Given the description of an element on the screen output the (x, y) to click on. 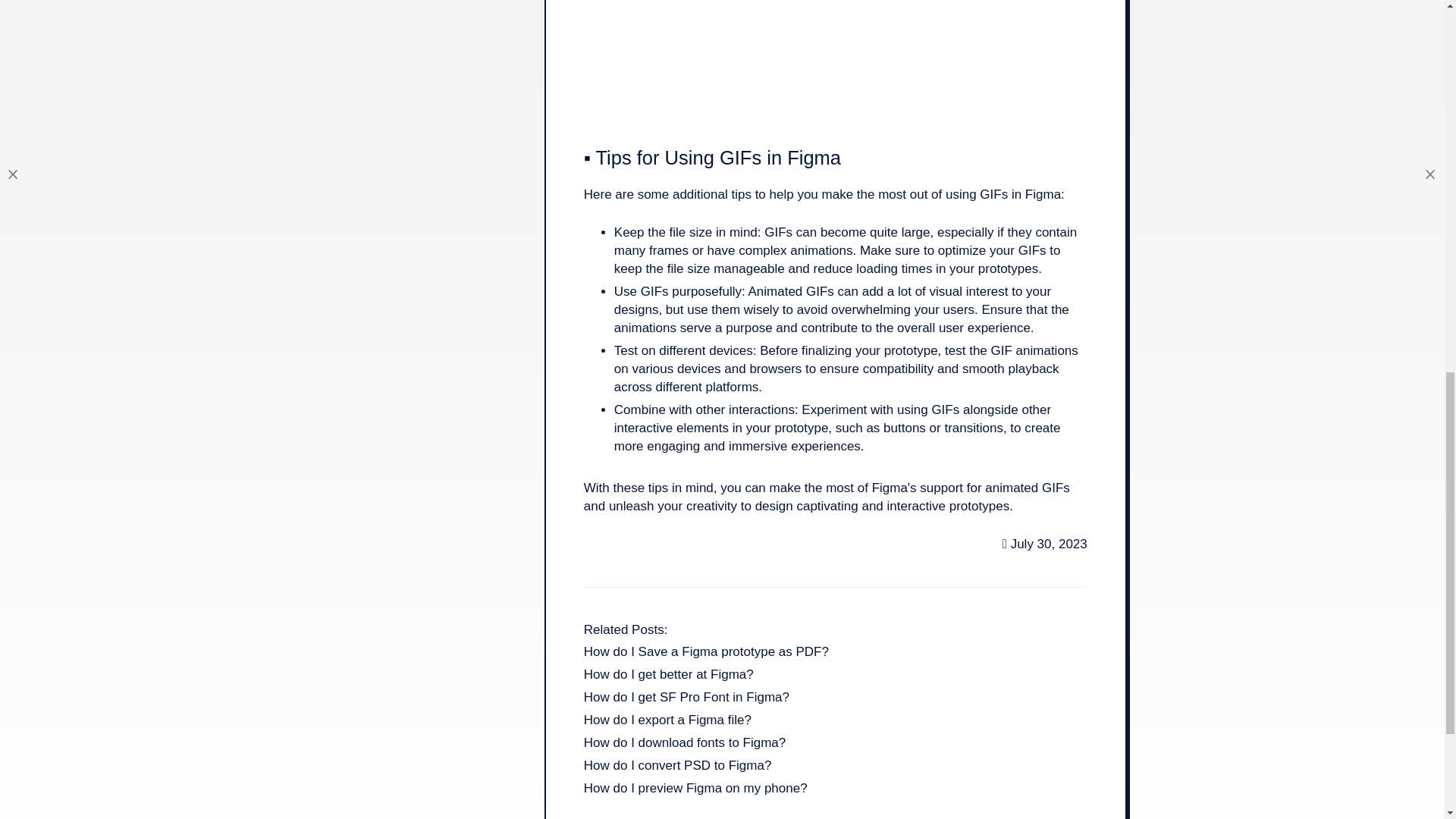
How do I get SF Pro Font in Figma? (686, 699)
How do I convert PSD to Figma? (677, 767)
How do I download fonts to Figma? (684, 744)
How do I get better at Figma? (668, 676)
How do I export a Figma file? (667, 722)
How do I preview Figma on my phone? (695, 790)
How do I Save a Figma prototype as PDF? (705, 653)
